Given the description of an element on the screen output the (x, y) to click on. 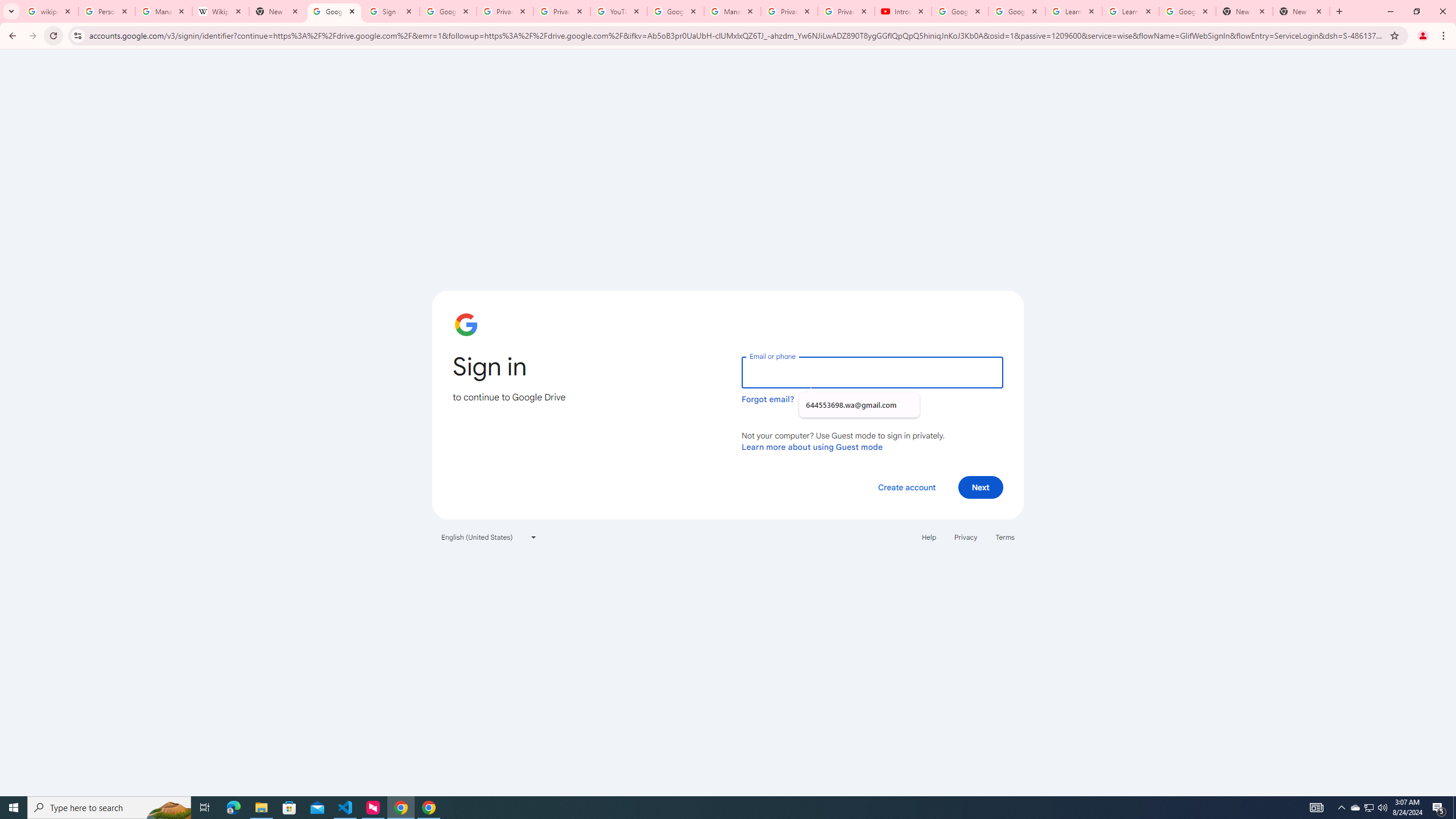
644553698.wa@gmail.com (858, 404)
Forgot email? (767, 398)
Manage your Location History - Google Search Help (163, 11)
Create account (905, 486)
Google Account (1187, 11)
Personalization & Google Search results - Google Search Help (105, 11)
